Given the description of an element on the screen output the (x, y) to click on. 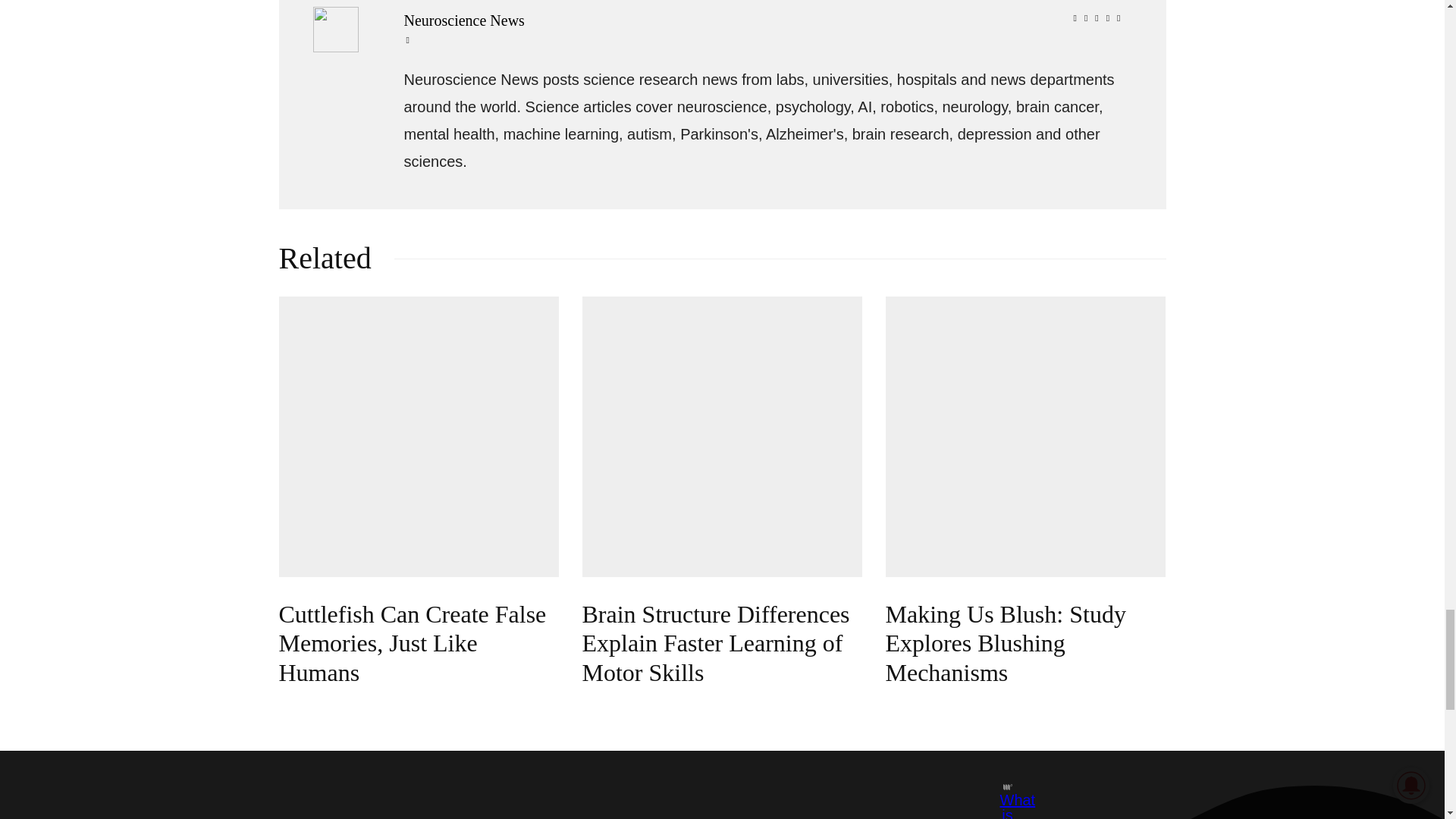
Neuroscience News (764, 20)
